Given the description of an element on the screen output the (x, y) to click on. 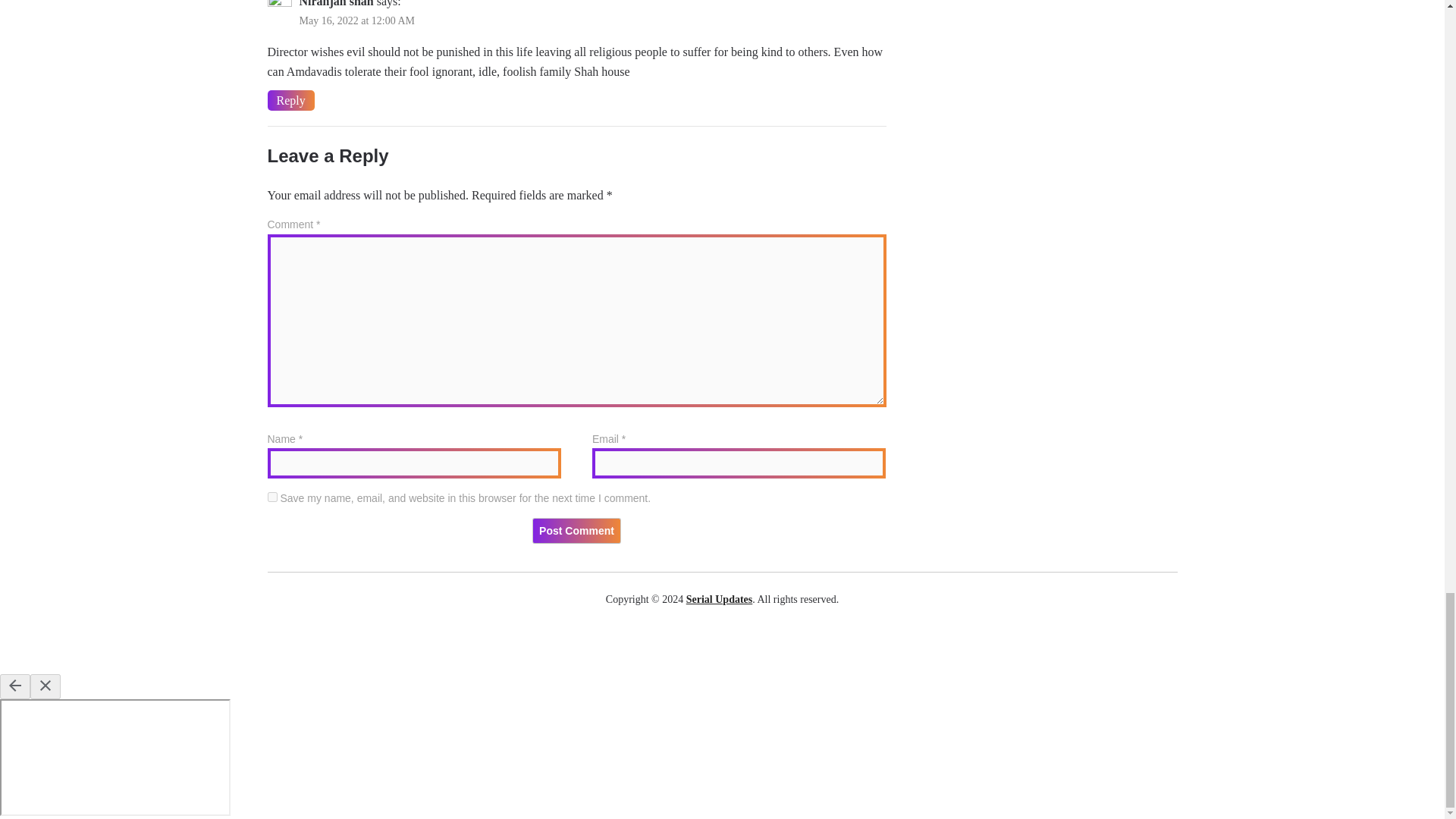
Post Comment (576, 530)
DMCA.com Protection Status (721, 645)
May 16, 2022 at 12:00 AM (355, 20)
Serial Updates (718, 599)
yes (271, 497)
Post Comment (576, 530)
Reply (290, 100)
